Given the description of an element on the screen output the (x, y) to click on. 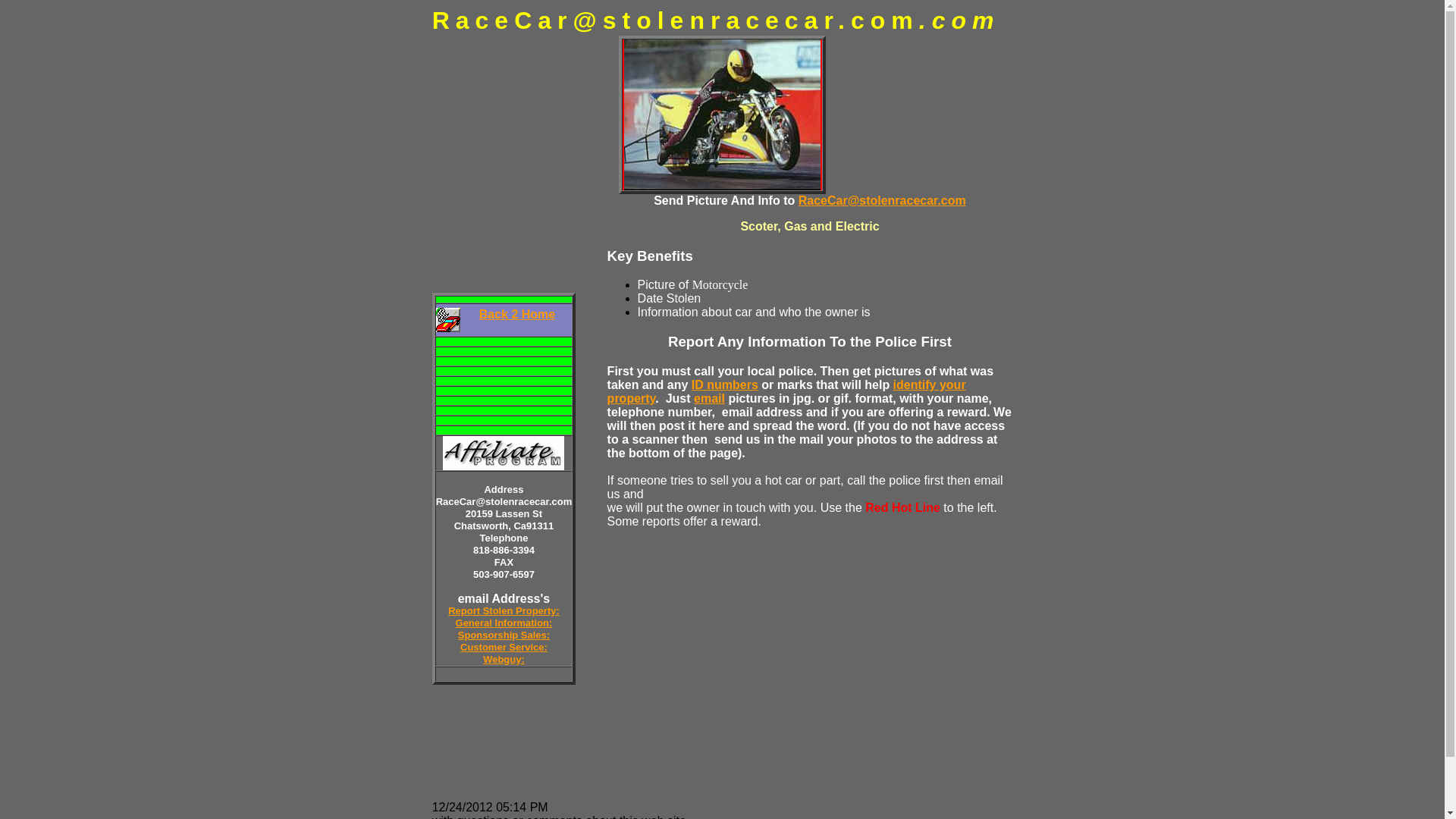
Webguy: (503, 658)
Customer Service: (503, 645)
General Information: (504, 621)
Sponsorship Sales: (504, 634)
identify your property (786, 391)
Back 2 Home (517, 314)
ID numbers (724, 384)
email (709, 398)
Report Stolen Property: (503, 609)
